Given the description of an element on the screen output the (x, y) to click on. 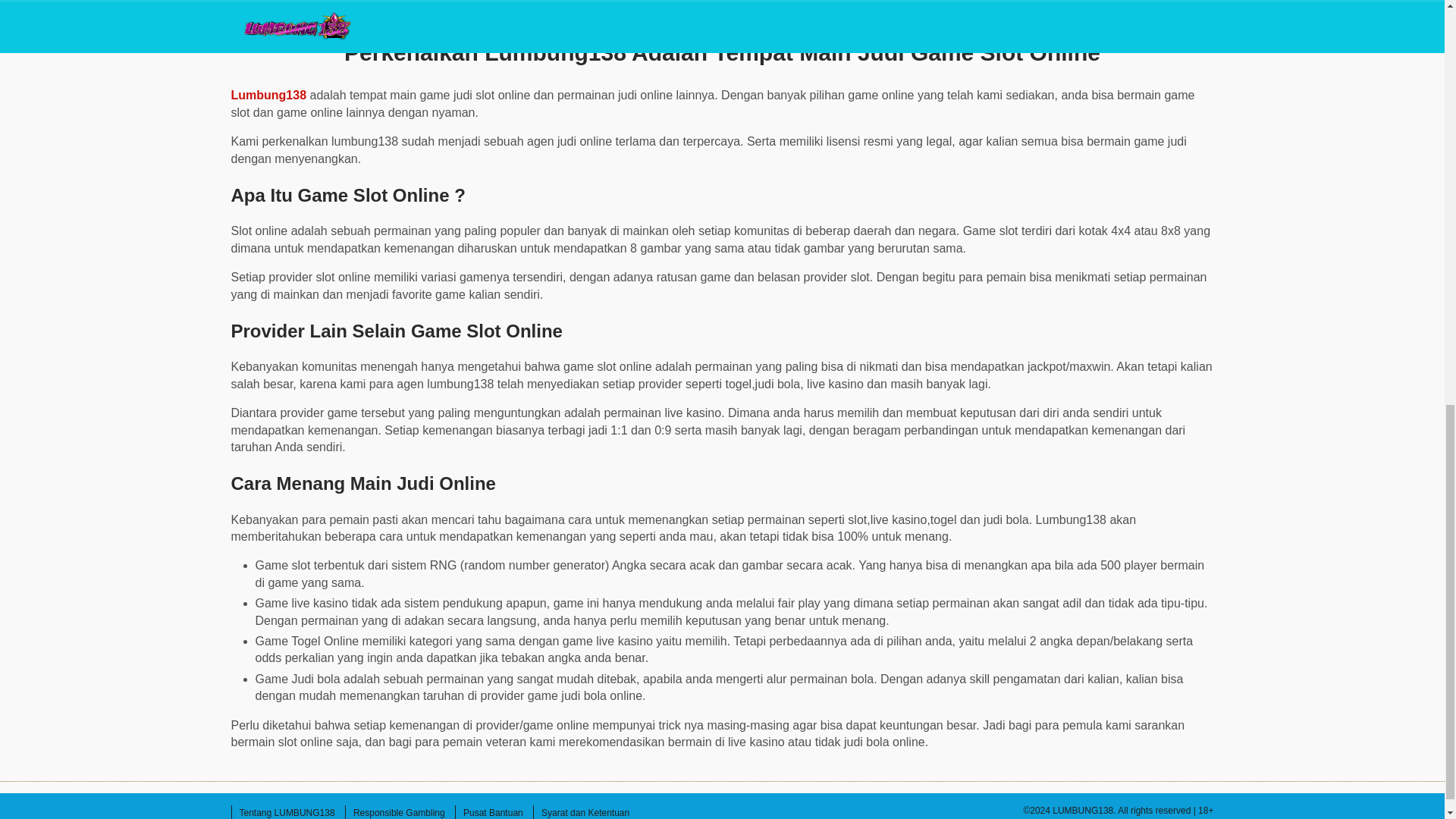
Lumbung138 (267, 94)
Syarat dan Ketentuan (584, 812)
Responsible Gambling (398, 812)
Tentang LUMBUNG138 (286, 812)
Pusat Bantuan (492, 812)
